Given the description of an element on the screen output the (x, y) to click on. 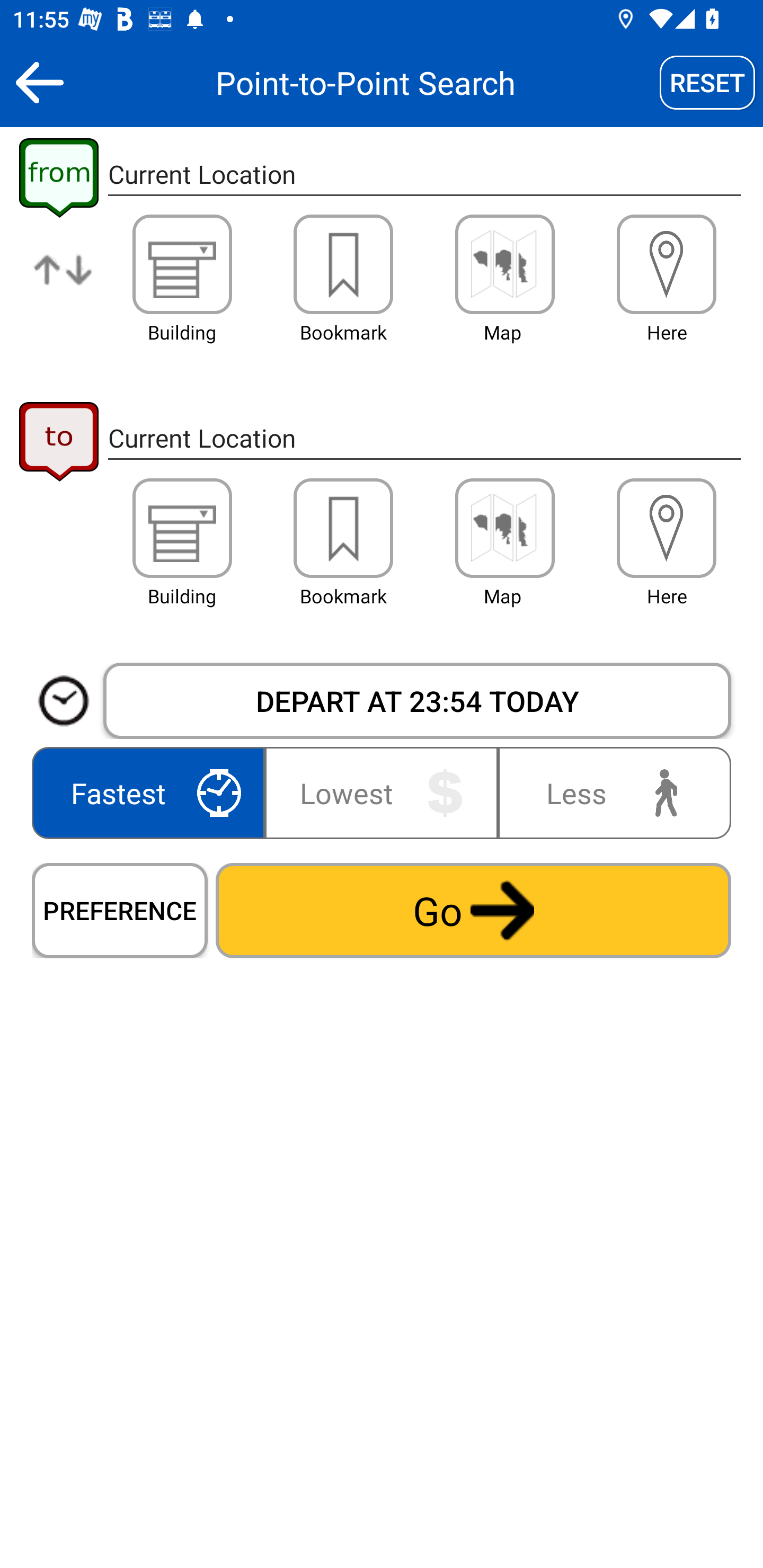
Back (39, 82)
RESET Reset (707, 81)
Current Location (423, 174)
Building (181, 263)
Bookmarks (342, 263)
Select location on map (504, 263)
Here (666, 263)
Swap origin and destination (63, 284)
Current Location (423, 437)
Building (181, 528)
Bookmarks (342, 528)
Select location on map (504, 528)
Here (666, 528)
Lowest (381, 792)
Fastest selected (151, 792)
Less (610, 792)
PREFERENCE Preference (119, 910)
Go (472, 910)
